Given the description of an element on the screen output the (x, y) to click on. 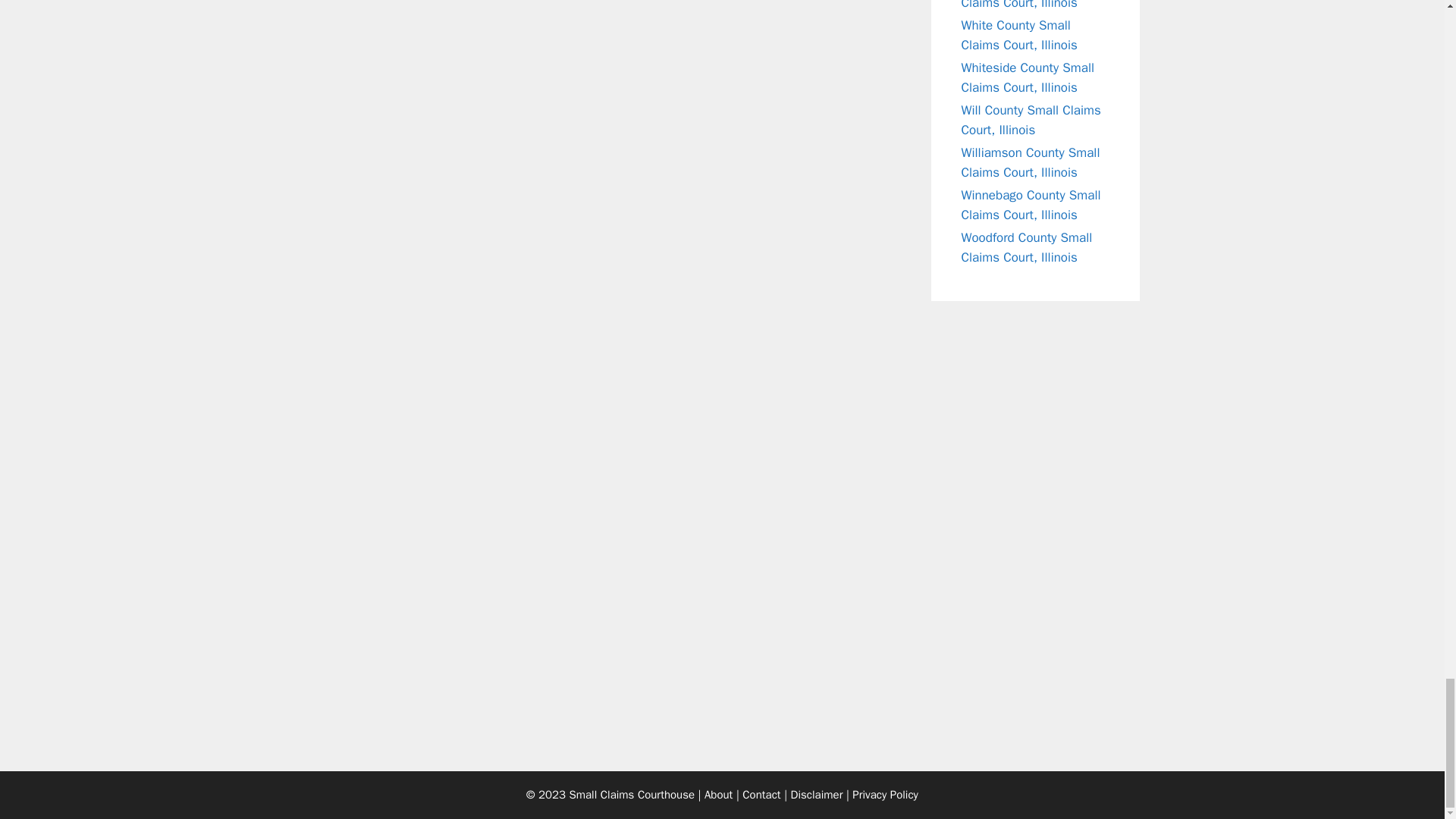
Privacy Policy for smallclaimscourthouse.com (884, 794)
Contact smallclaimscourthouse.com (761, 794)
About smallclaimscourthouse.com (718, 794)
Disclaimer smallclaimscourthouse.com Disclaimer (816, 794)
